Given the description of an element on the screen output the (x, y) to click on. 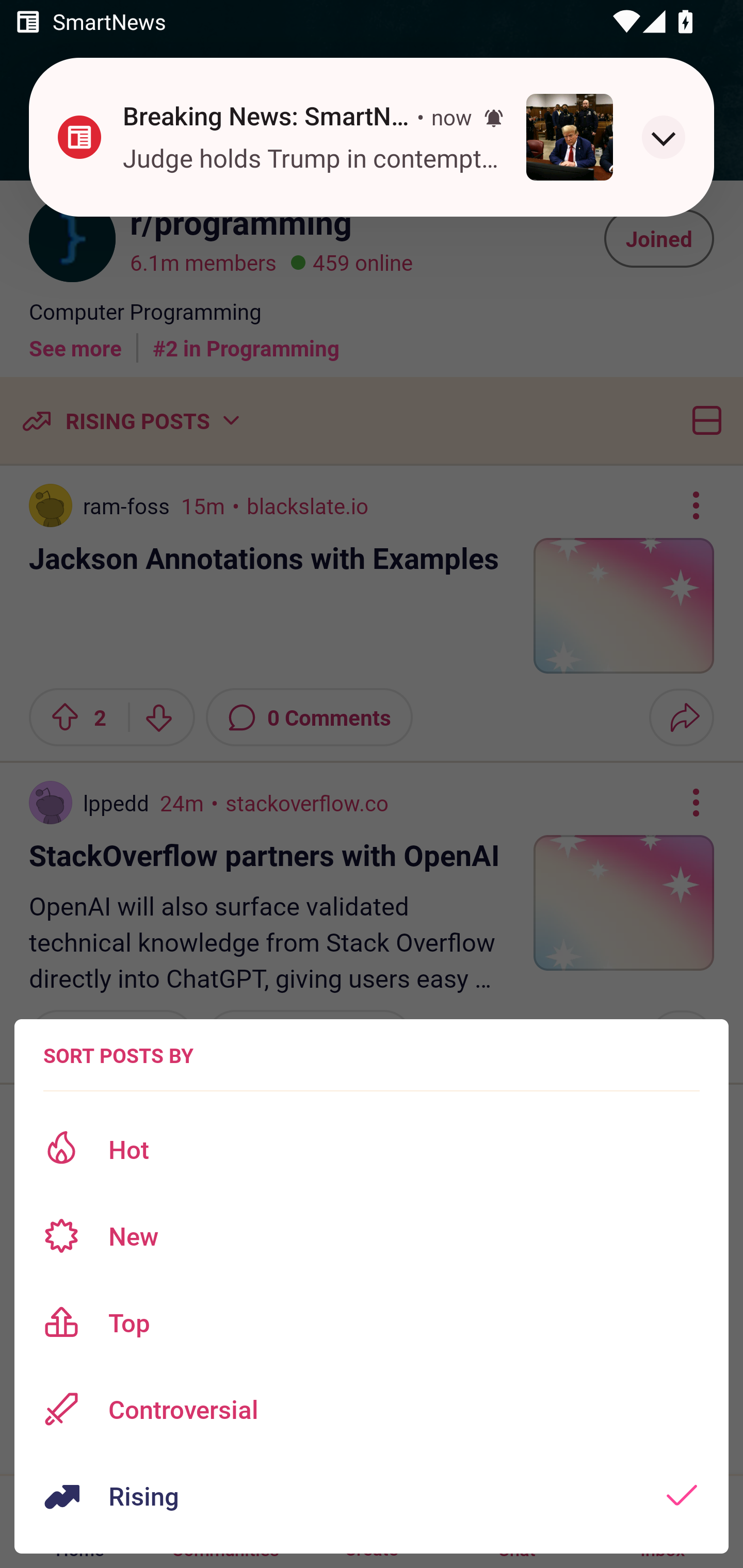
SORT POSTS BY Sort posts options (118, 1055)
Hot (371, 1149)
New (371, 1236)
Top (371, 1322)
Controversial (371, 1408)
Rising (371, 1495)
